Given the description of an element on the screen output the (x, y) to click on. 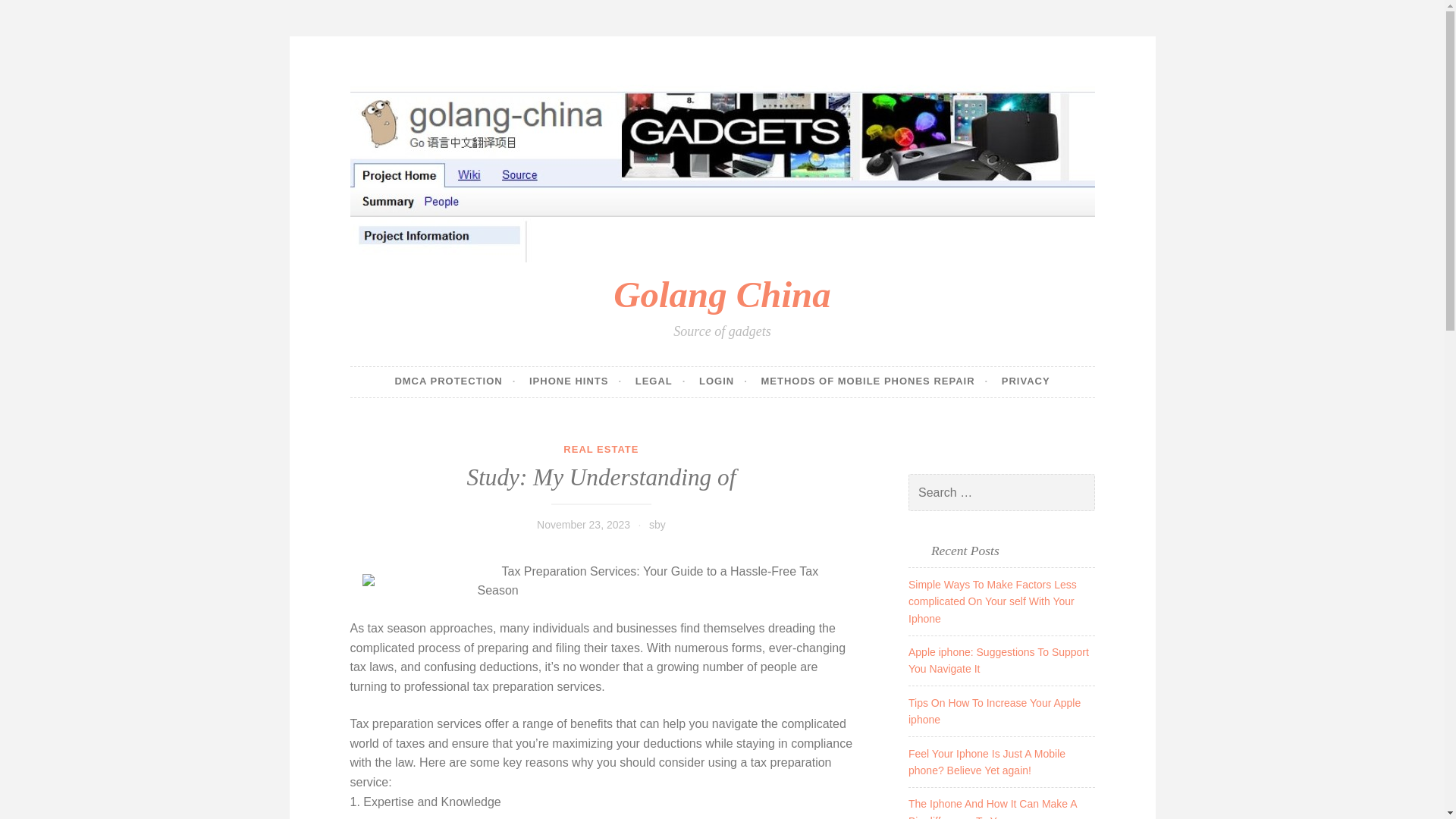
Golang China (720, 294)
The Iphone And How It Can Make A Big difference To You (992, 808)
LEGAL (659, 381)
IPHONE HINTS (575, 381)
Tips On How To Increase Your Apple iphone (994, 710)
Apple iphone: Suggestions To Support You Navigate It (998, 660)
sby (657, 524)
PRIVACY (1025, 381)
REAL ESTATE (601, 449)
